Given the description of an element on the screen output the (x, y) to click on. 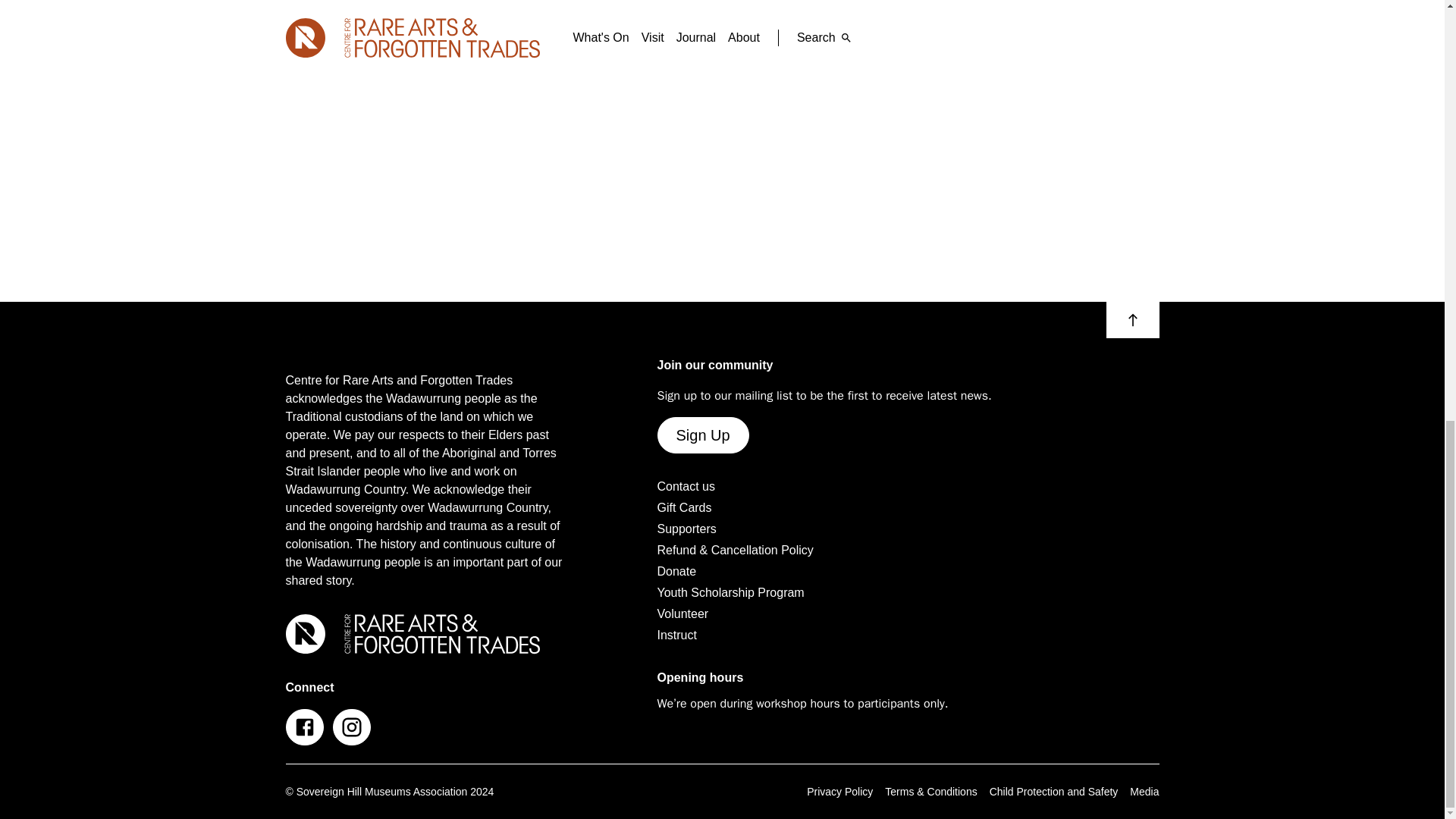
Donate (675, 571)
Privacy Policy (839, 791)
Media (1143, 791)
Contact us (685, 486)
Volunteer (681, 614)
Youth Scholarship Program (729, 592)
Gift Cards (683, 507)
Supporters (686, 529)
Child Protection and Safety (1054, 791)
Sign Up (702, 434)
